Given the description of an element on the screen output the (x, y) to click on. 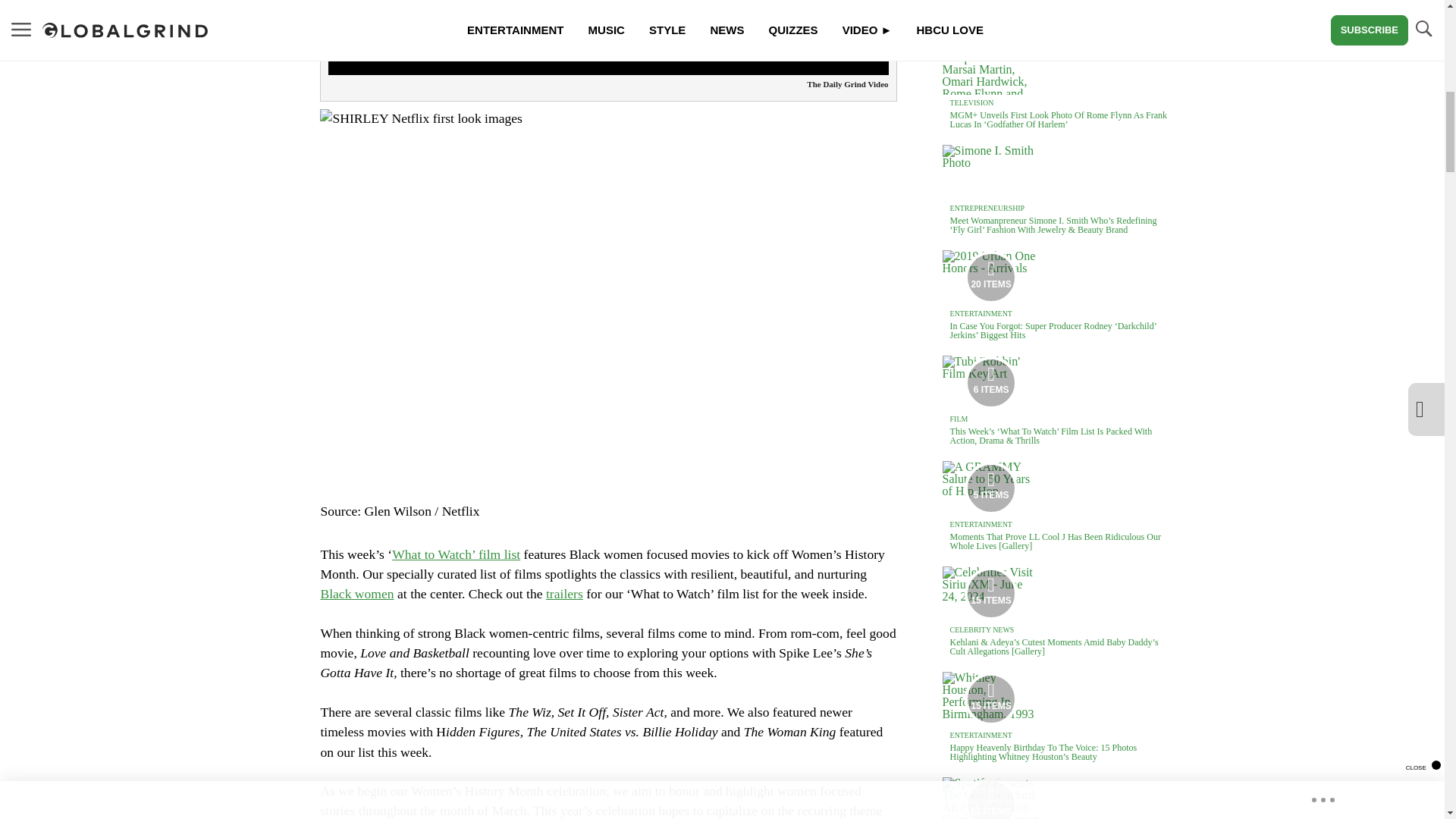
FILM (959, 418)
6 ITEMS (991, 383)
TELEVISION (972, 102)
20 ITEMS (991, 277)
Media Playlist (990, 488)
ENTERTAINMENT (980, 313)
Media Playlist (990, 798)
trailers (564, 593)
Media Playlist (990, 593)
Media Playlist (990, 276)
